Given the description of an element on the screen output the (x, y) to click on. 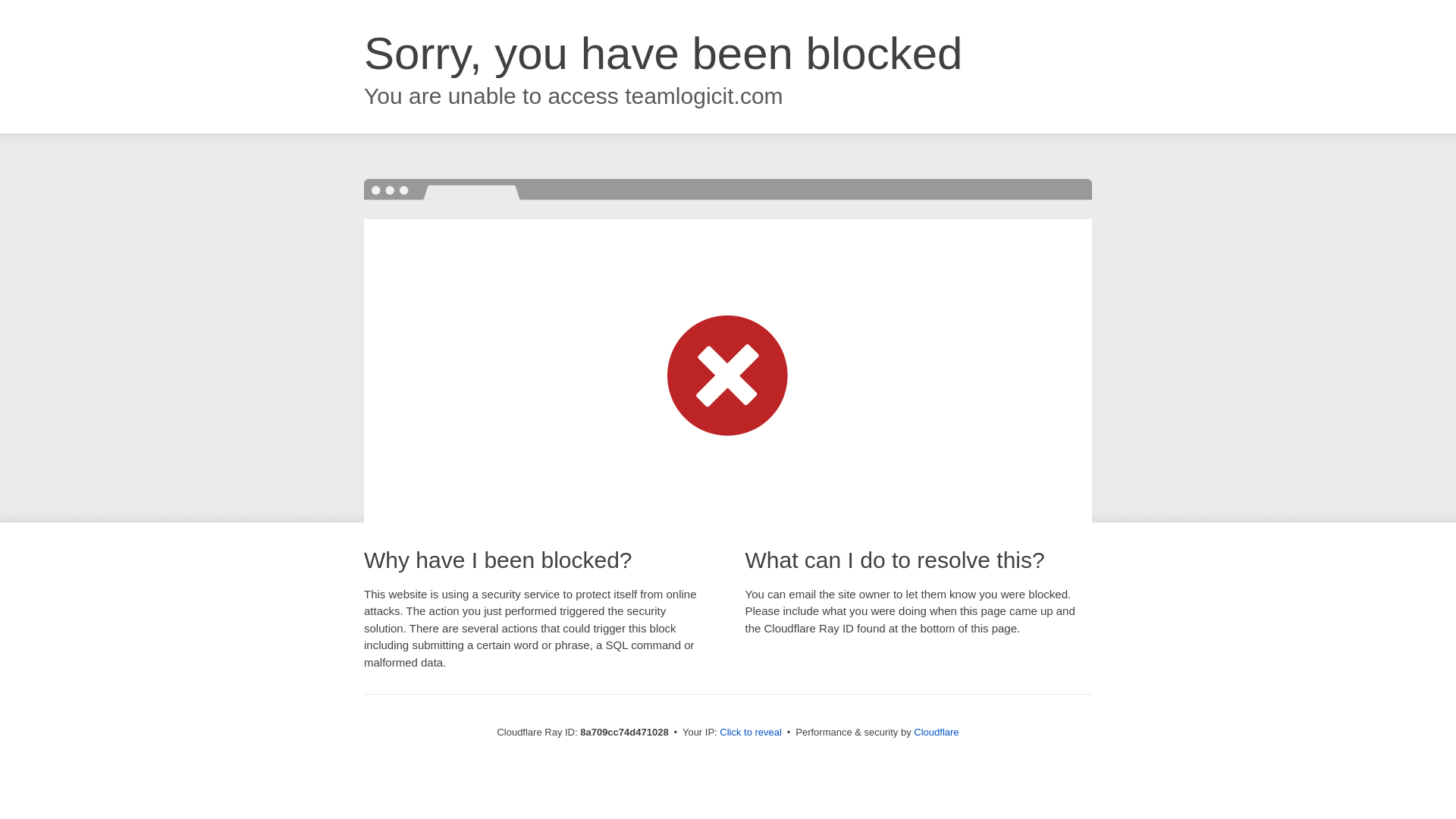
Cloudflare (936, 731)
Click to reveal (750, 732)
